Given the description of an element on the screen output the (x, y) to click on. 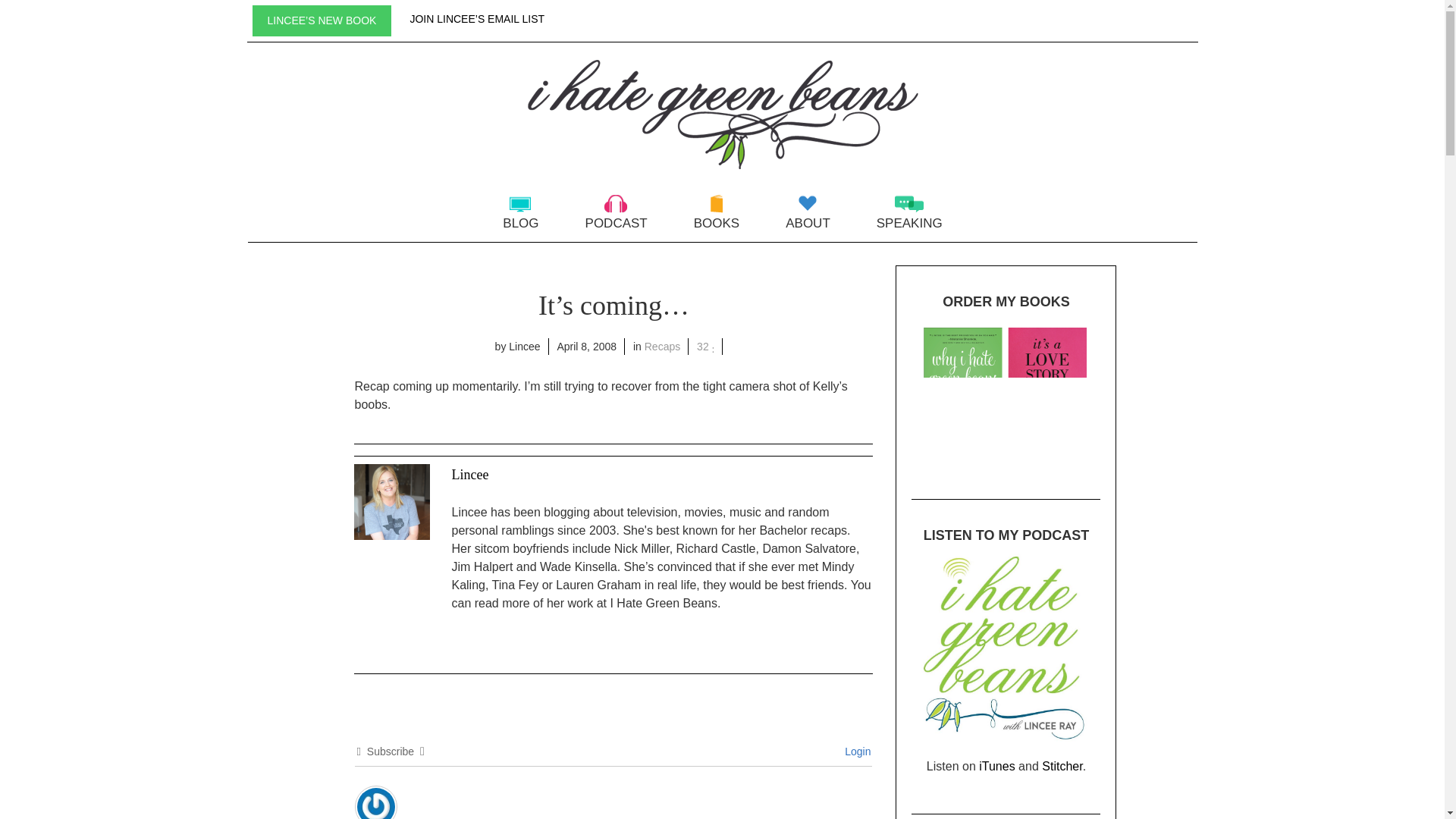
Lincee (469, 474)
BOOKS (716, 222)
Login (855, 751)
ABOUT (807, 222)
Recaps (662, 346)
SPEAKING (909, 222)
32 (705, 346)
PODCAST (615, 222)
